Given the description of an element on the screen output the (x, y) to click on. 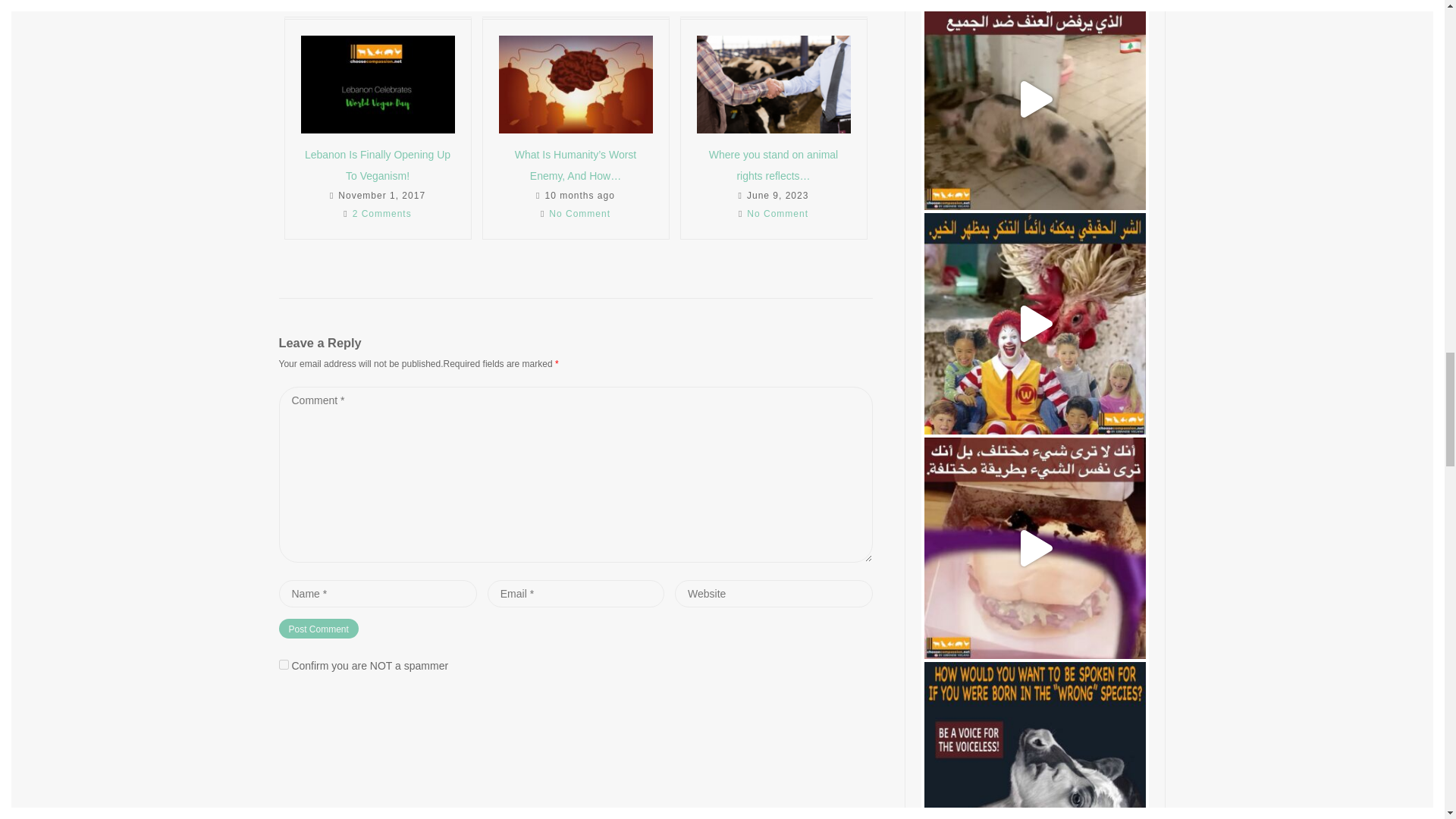
on (283, 664)
Lebanon Is Finally Opening Up To Veganism! (376, 84)
Lebanon Is Finally Opening Up To Veganism! (376, 164)
Post Comment (318, 628)
